Given the description of an element on the screen output the (x, y) to click on. 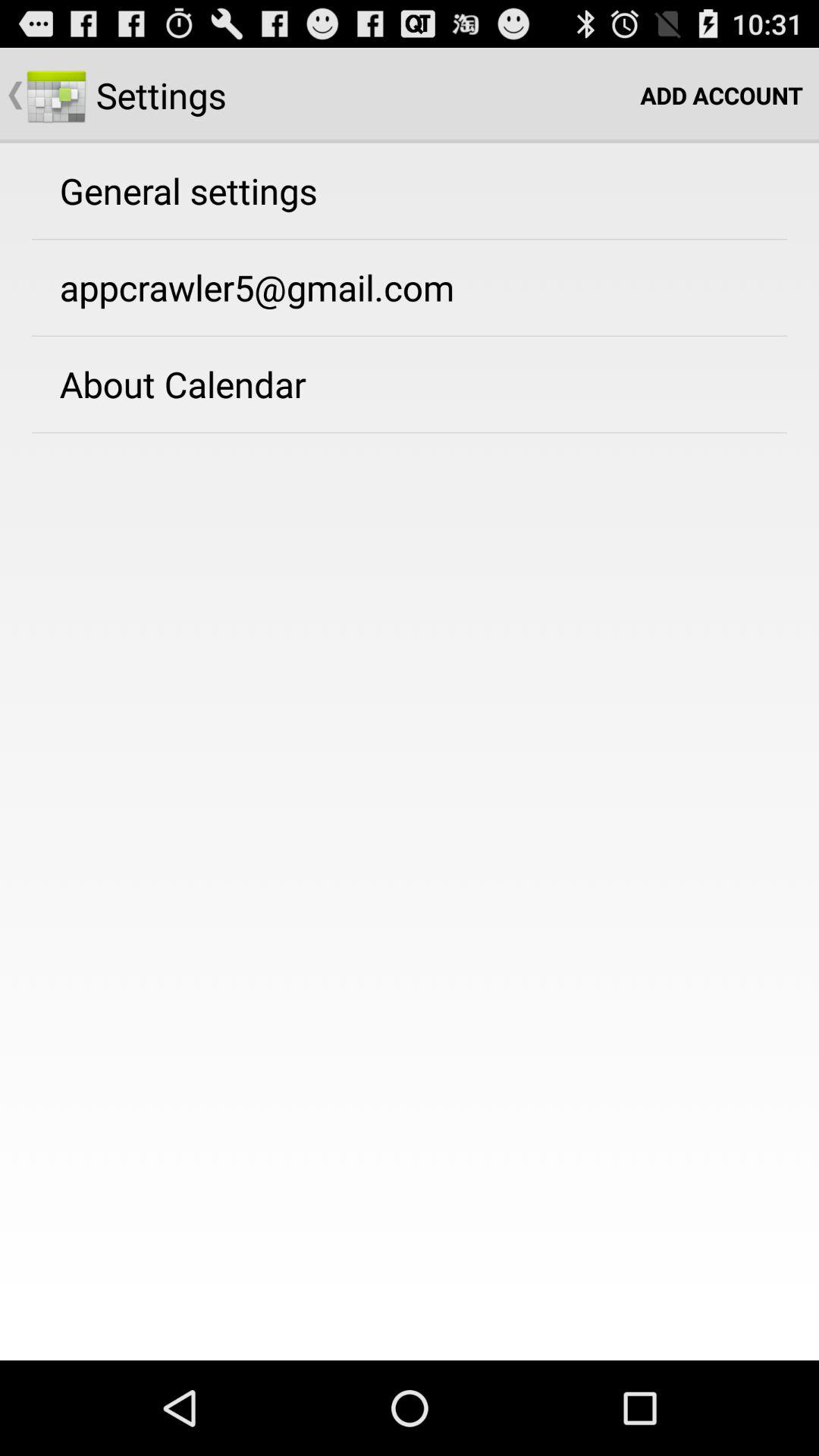
swipe to the about calendar item (182, 384)
